Given the description of an element on the screen output the (x, y) to click on. 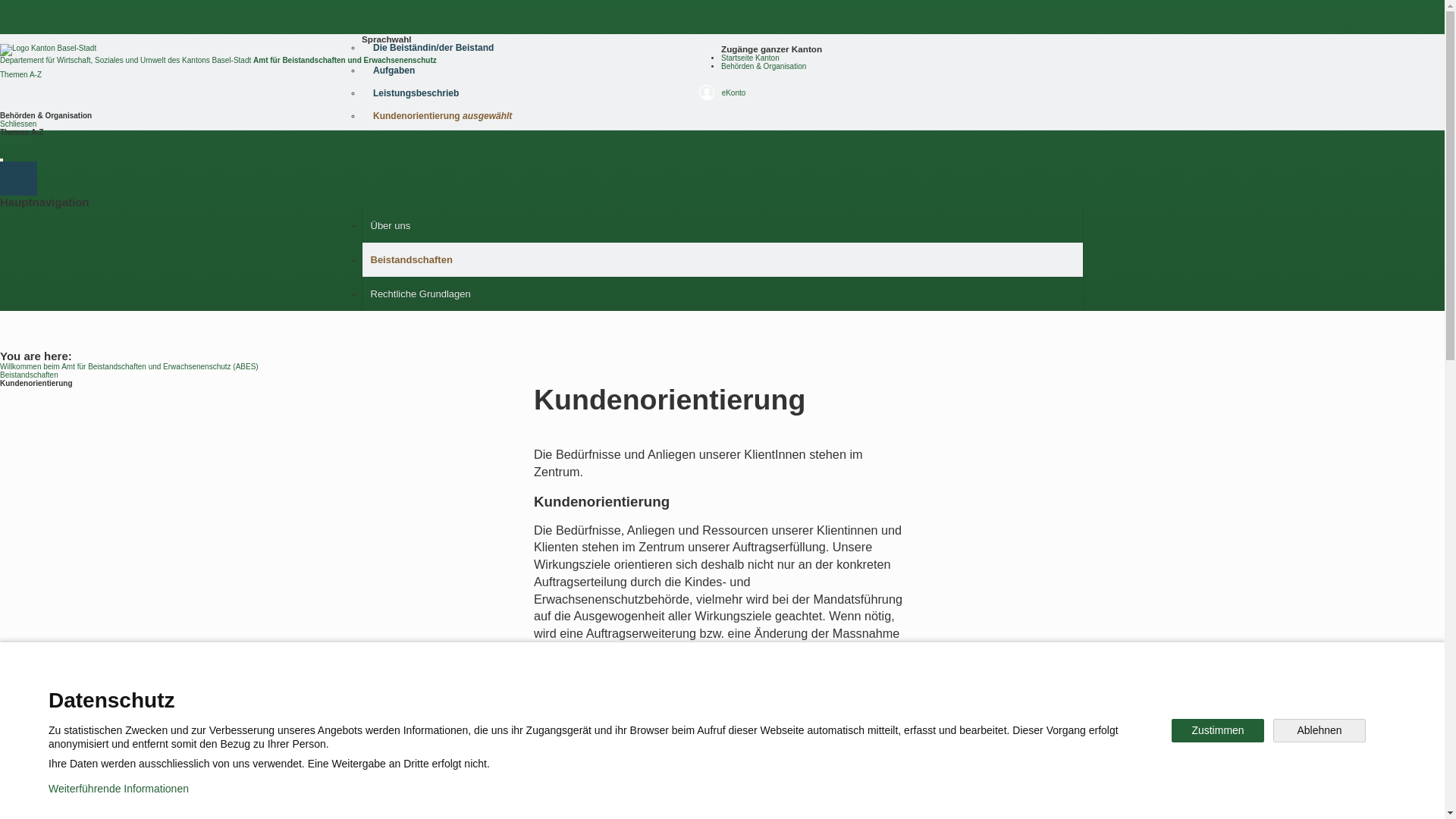
Beistandschaften Element type: text (29, 374)
Themen A-Z Element type: text (20, 74)
Ablehnen Element type: text (1319, 730)
Aufgaben Element type: text (720, 70)
eKonto Element type: text (722, 94)
Zustimmen Element type: text (1217, 730)
Rechtliche Grundlagen Element type: text (722, 293)
Startseite Kanton Element type: text (750, 57)
Schliessen Element type: text (18, 148)
Schliessen Element type: text (18, 123)
Leistungsbeschrieb Element type: text (720, 92)
Beistandschaften Element type: text (722, 259)
Schliessen Element type: text (18, 140)
